Given the description of an element on the screen output the (x, y) to click on. 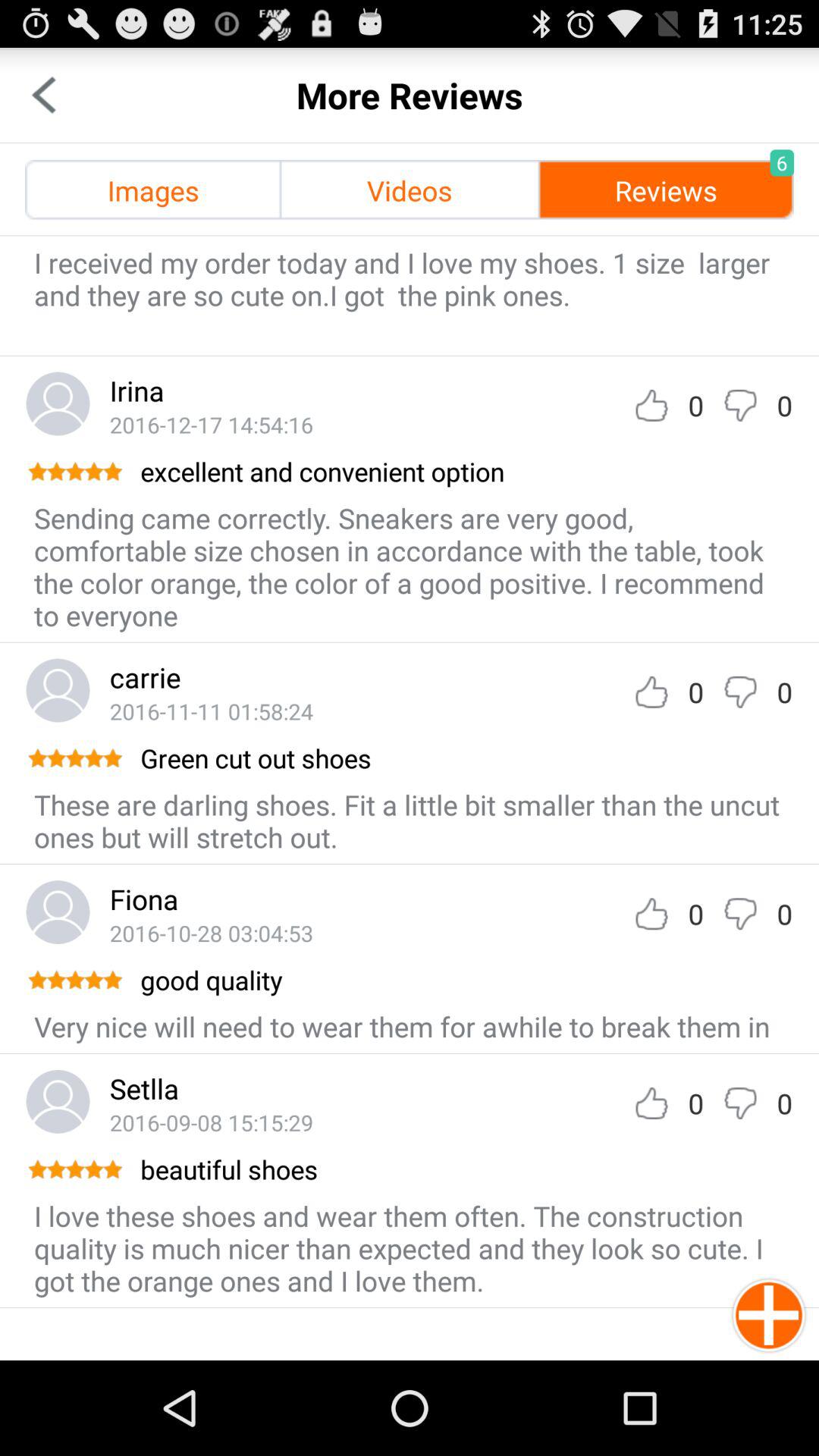
press to like (651, 1103)
